Given the description of an element on the screen output the (x, y) to click on. 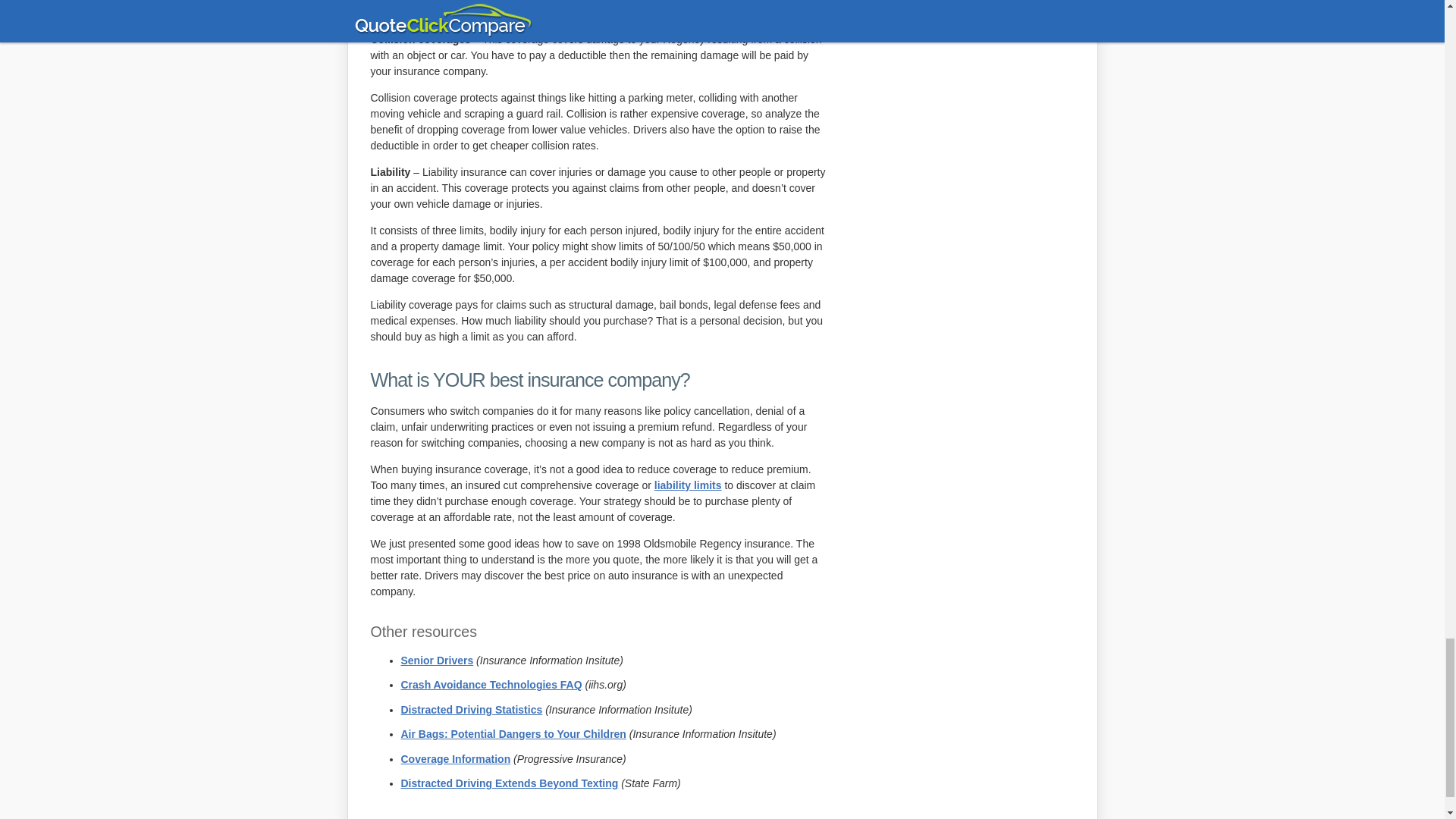
Crash Avoidance Technologies FAQ (490, 684)
Senior Drivers (436, 660)
Distracted Driving Statistics (470, 709)
Air Bags: Potential Dangers to Your Children (513, 734)
Distracted Driving Extends Beyond Texting (508, 783)
liability limits (687, 485)
Coverage Information (455, 758)
